Given the description of an element on the screen output the (x, y) to click on. 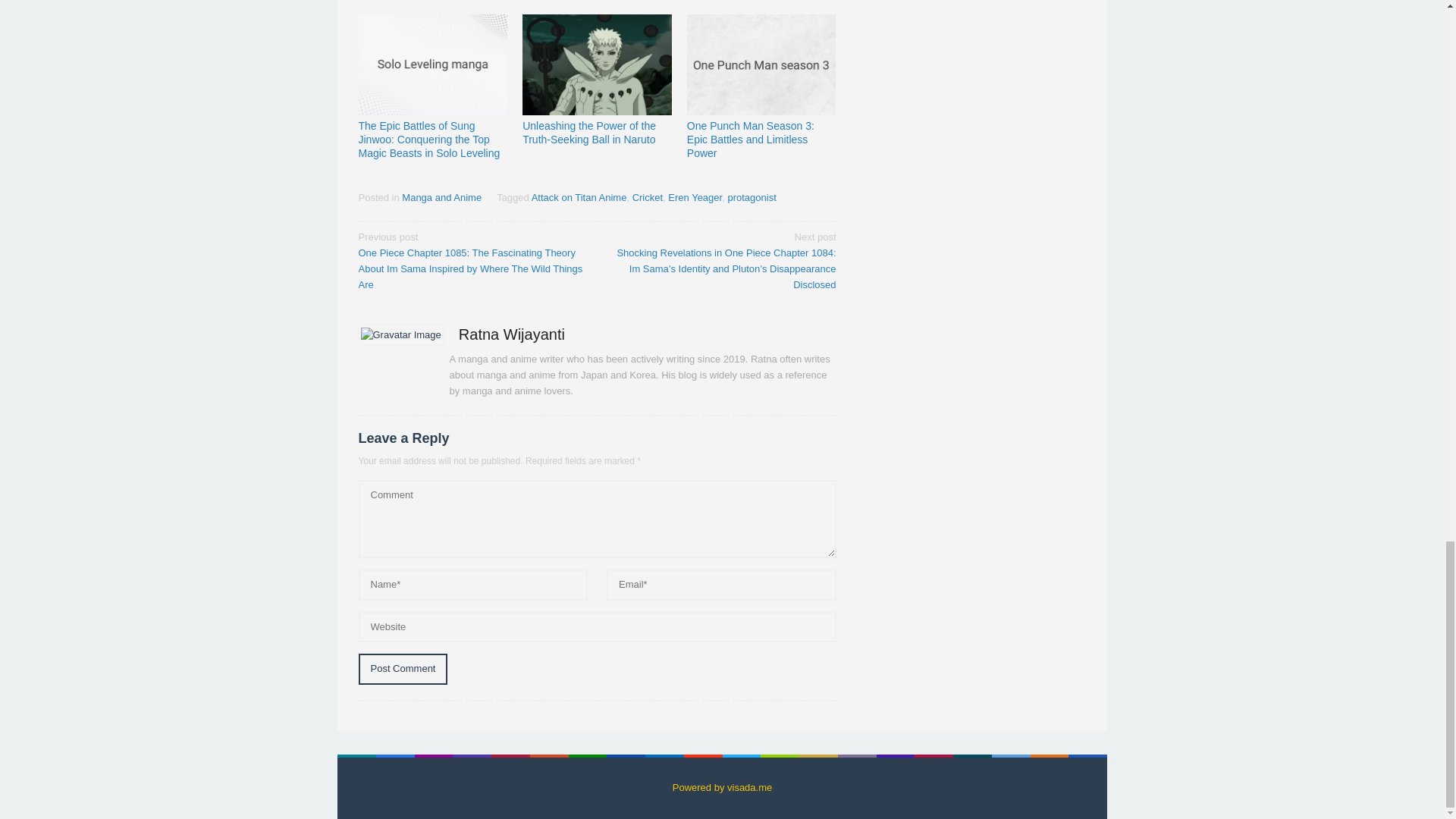
Eren Yeager (695, 197)
Manga and Anime (441, 197)
protagonist (751, 197)
Post Comment (402, 668)
Ratna Wijayanti (511, 334)
